Given the description of an element on the screen output the (x, y) to click on. 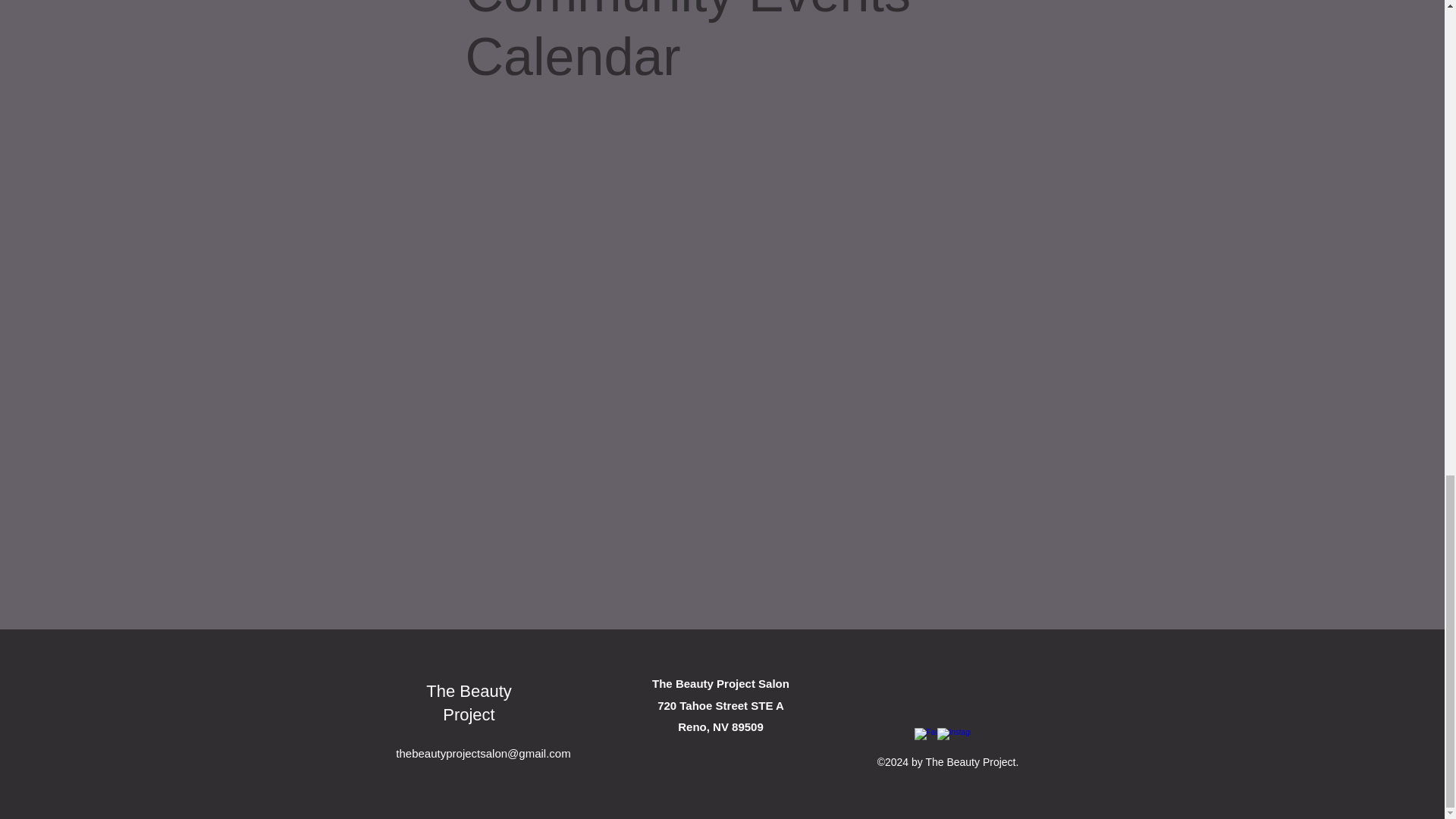
The Beauty Project (469, 702)
